Given the description of an element on the screen output the (x, y) to click on. 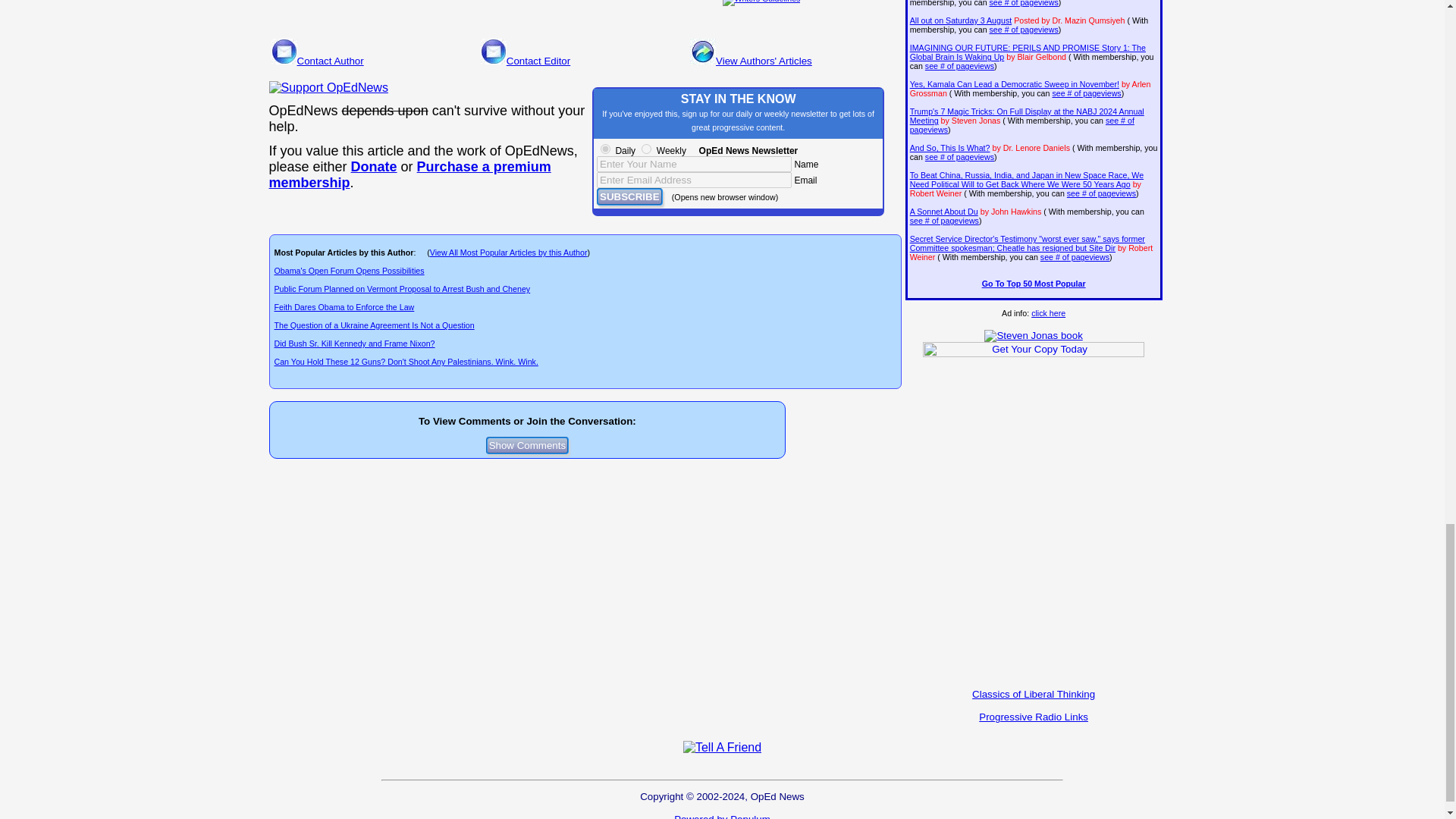
Weekly (646, 148)
Writers Guidelines (761, 2)
Show Comments (527, 445)
Support OpEdNews (327, 88)
Enter Your Name (694, 163)
SUBSCRIBE (629, 196)
-- (408, 174)
Daily (604, 148)
Enter Email Address (694, 179)
-- (373, 166)
